Given the description of an element on the screen output the (x, y) to click on. 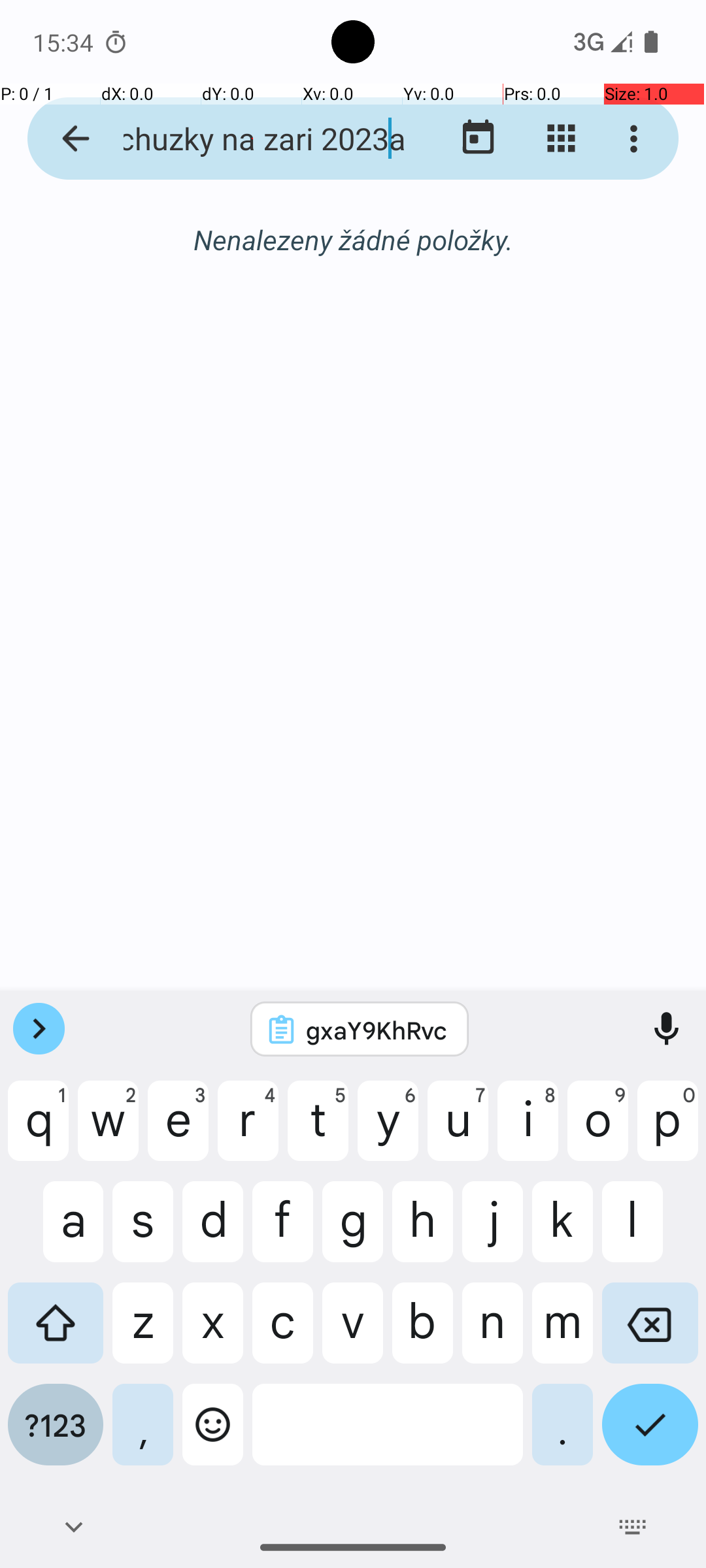
schuzky nschuzky na zari 2023a zari Element type: android.widget.EditText (252, 138)
Nenalezeny žádné položky. Element type: android.widget.TextView (353, 239)
září Element type: android.widget.TextView (352, 239)
gxaY9KhRvc Element type: android.widget.TextView (376, 1029)
